Given the description of an element on the screen output the (x, y) to click on. 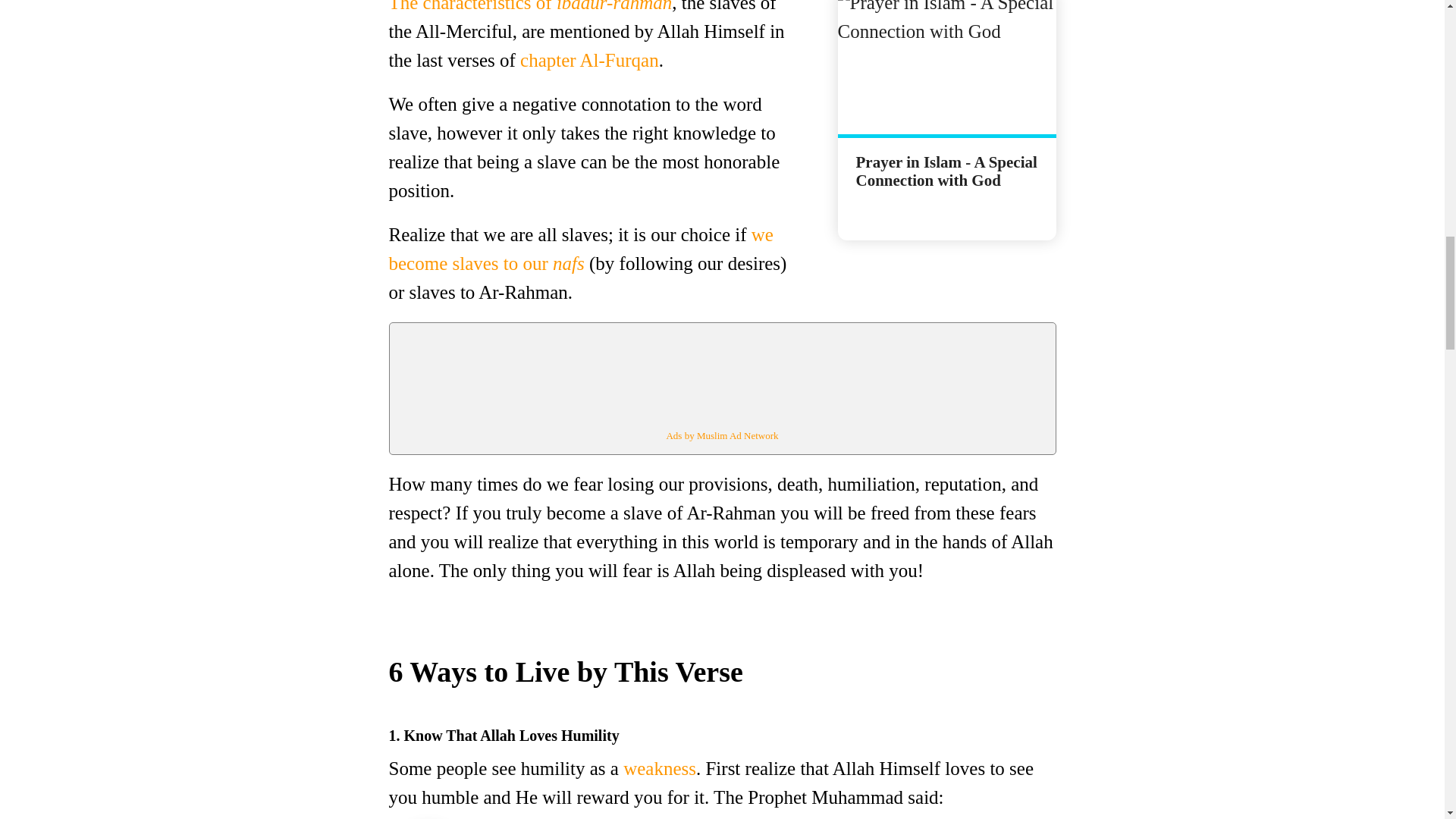
The characteristics of ibadur-rahman (529, 6)
weakness (659, 768)
Ads by Muslim Ad Network (721, 435)
chapter Al-Furqan (589, 59)
we become slaves to our nafs (580, 248)
Prayer in Islam - A Special Connection with God (946, 176)
Advertise and Market to Muslims (721, 435)
Prayer in Islam - A Special Connection with God (946, 67)
